Given the description of an element on the screen output the (x, y) to click on. 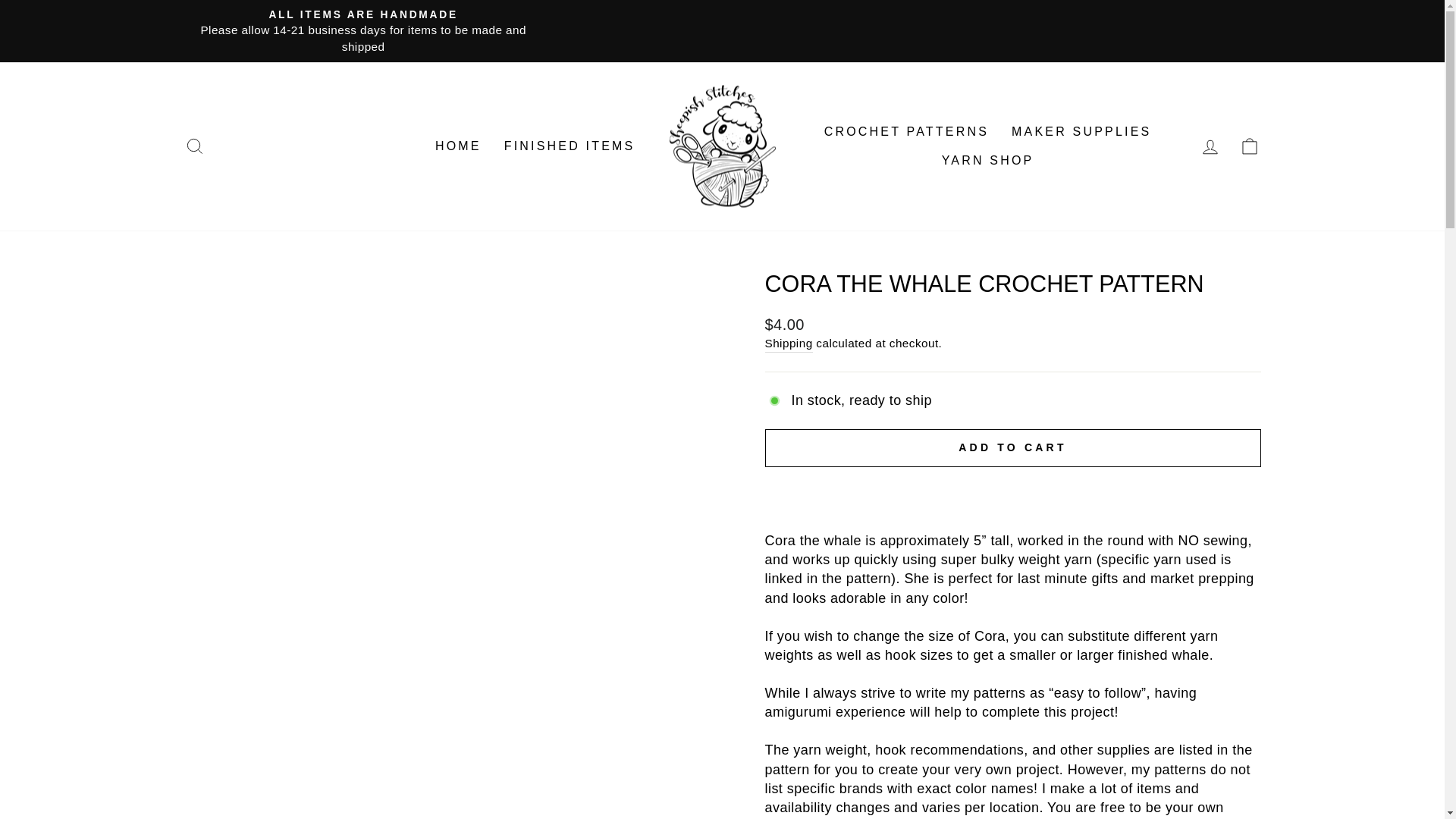
MAKER SUPPLIES (1080, 131)
SEARCH (194, 146)
FINISHED ITEMS (569, 146)
CROCHET PATTERNS (906, 131)
HOME (458, 146)
